Given the description of an element on the screen output the (x, y) to click on. 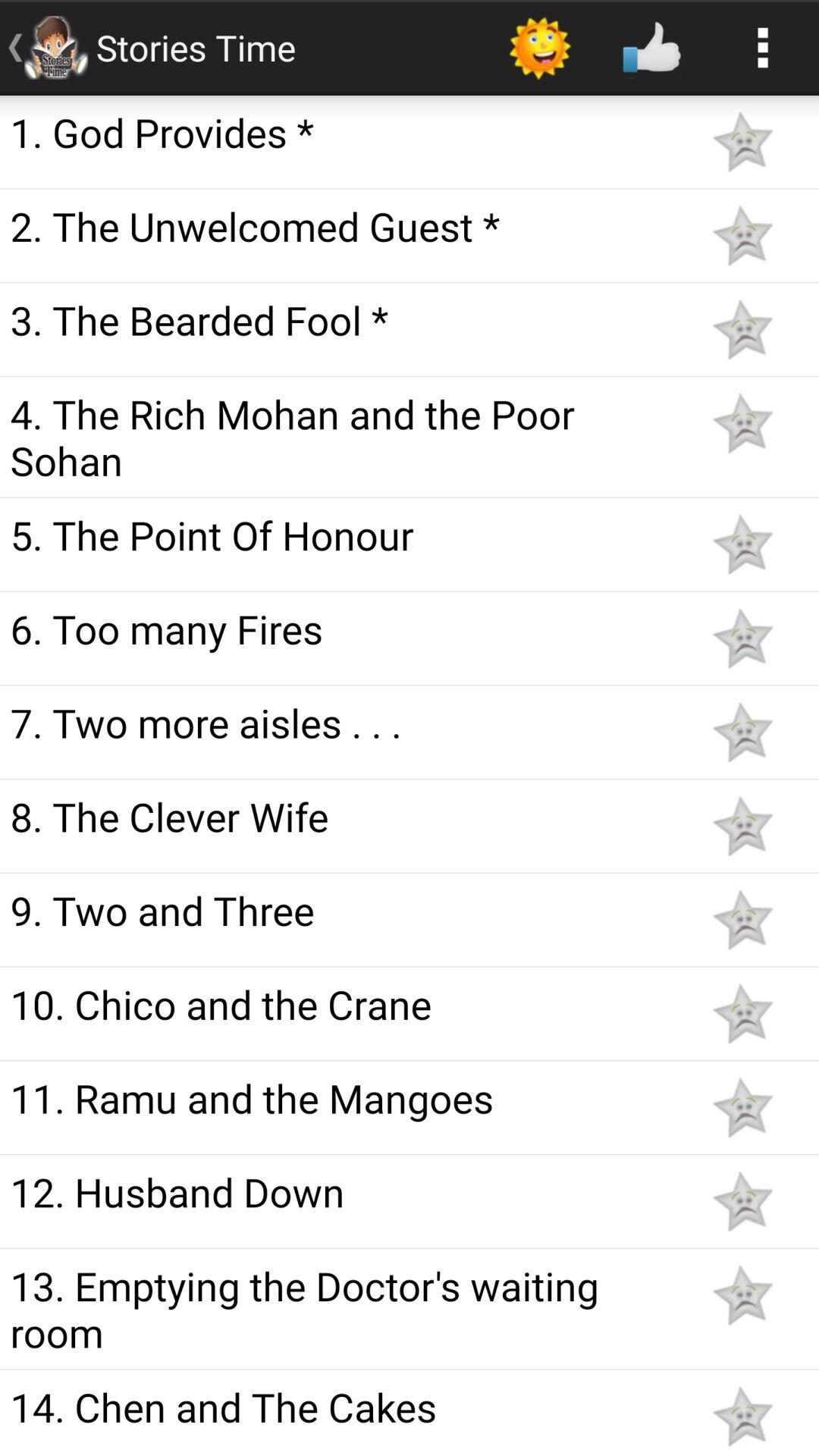
favorite the story (742, 919)
